Given the description of an element on the screen output the (x, y) to click on. 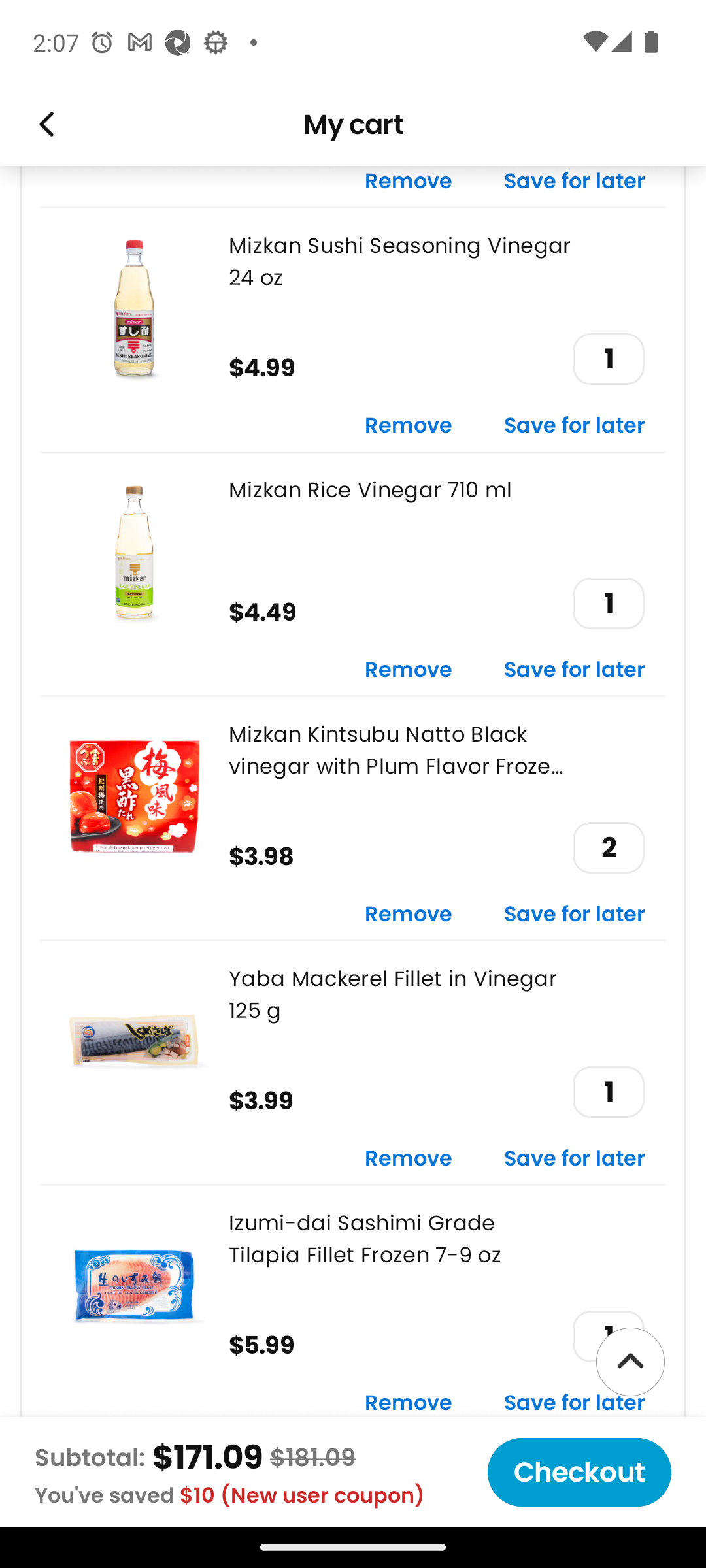
Remove (408, 186)
Save for later (574, 186)
1 (608, 358)
Remove (408, 426)
Save for later (574, 426)
1 (608, 602)
Remove (408, 670)
Save for later (574, 670)
2 (608, 847)
Remove (408, 914)
Save for later (574, 914)
1 (608, 1091)
Remove (408, 1159)
Save for later (574, 1159)
Remove (408, 1403)
Save for later (574, 1403)
Niigata Koshihikari Rice 11 lb (352, 1477)
Checkout (579, 1471)
